Given the description of an element on the screen output the (x, y) to click on. 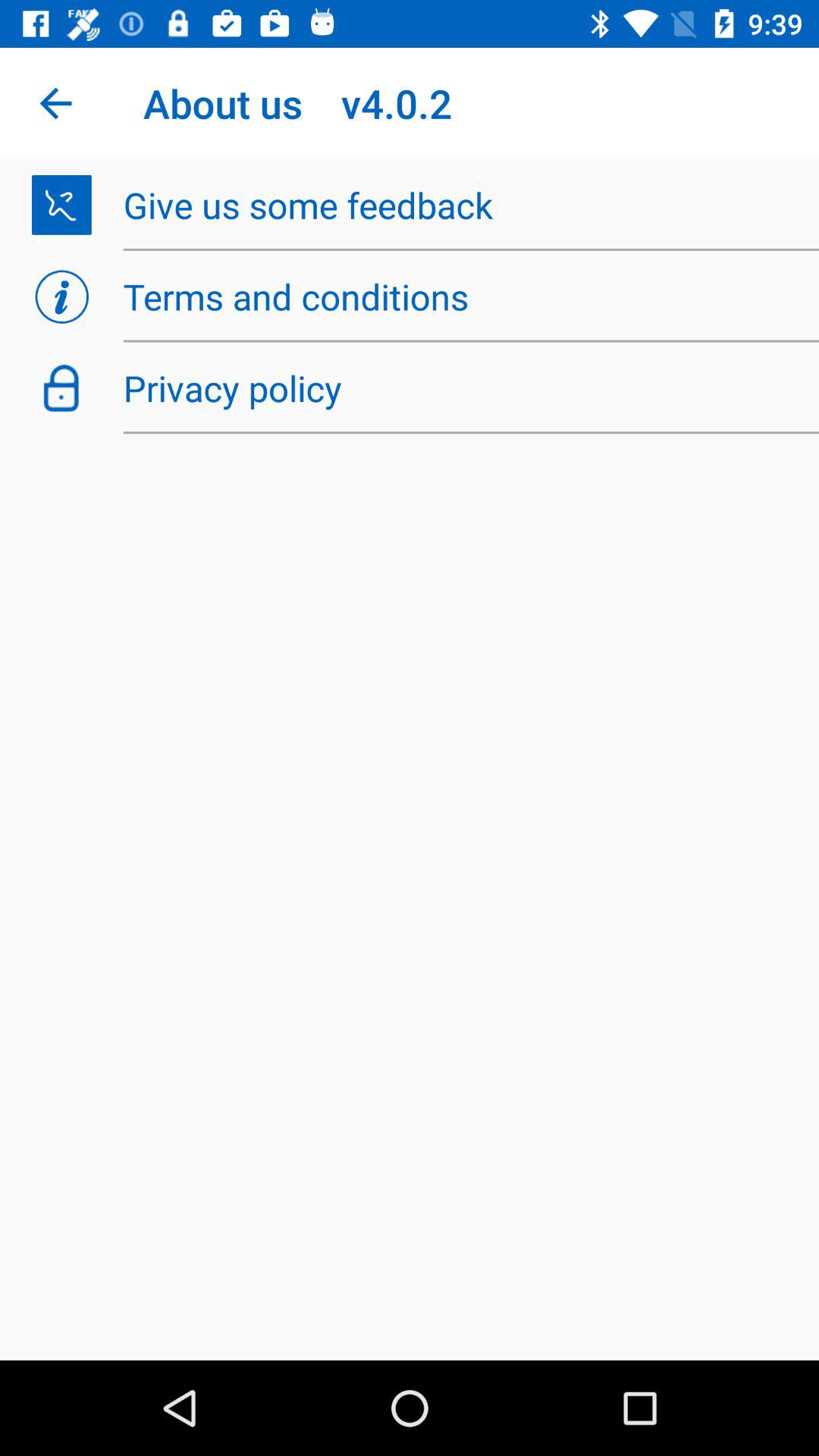
press app next to the about us v4 app (55, 103)
